Given the description of an element on the screen output the (x, y) to click on. 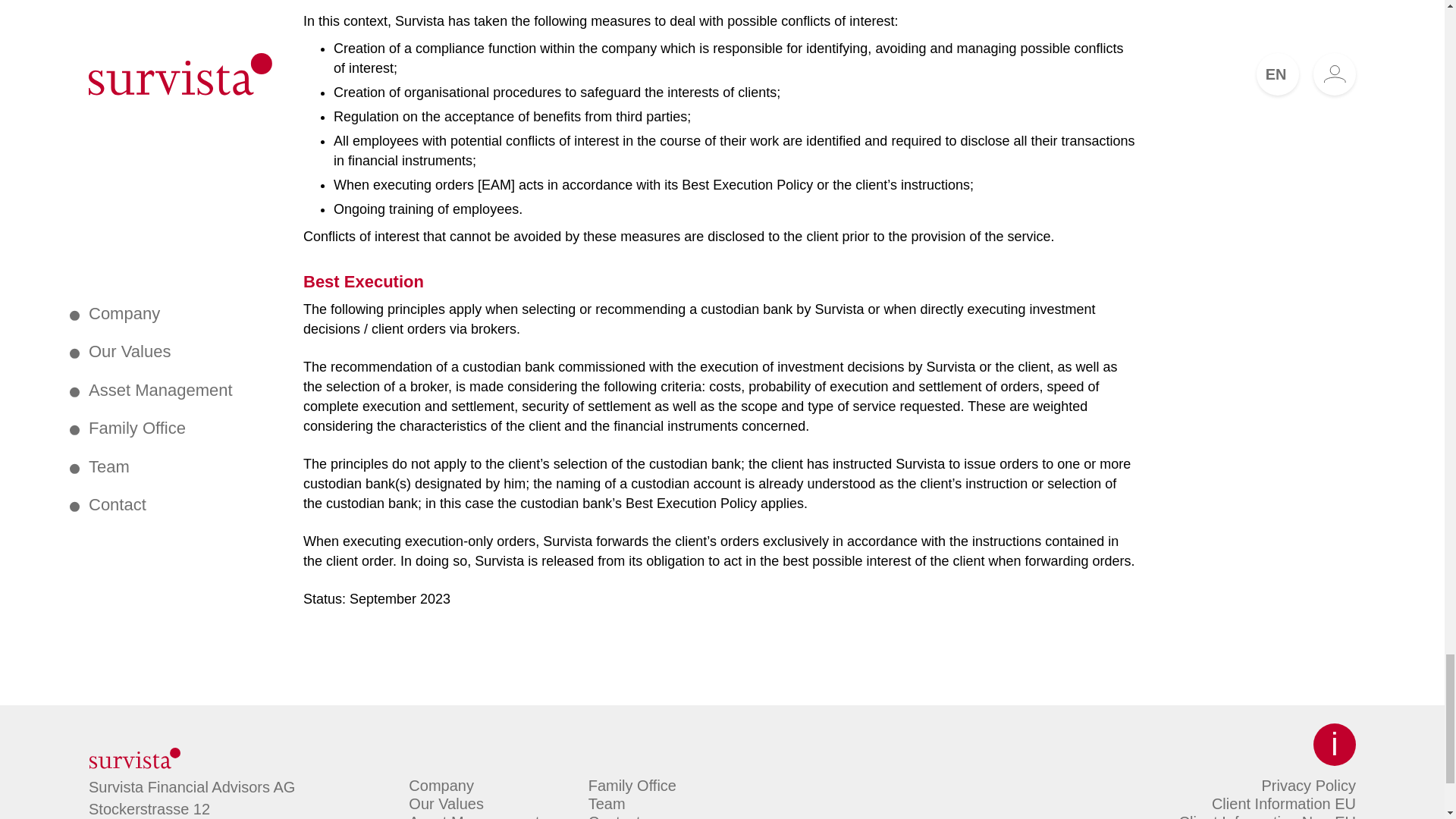
Team (607, 803)
Company (441, 785)
Family Office (632, 785)
Privacy Policy (1308, 785)
Asset Management (473, 816)
Contact (614, 816)
Client Information Non-EU (1267, 816)
Client Information EU (1283, 803)
Our Values (446, 803)
